Given the description of an element on the screen output the (x, y) to click on. 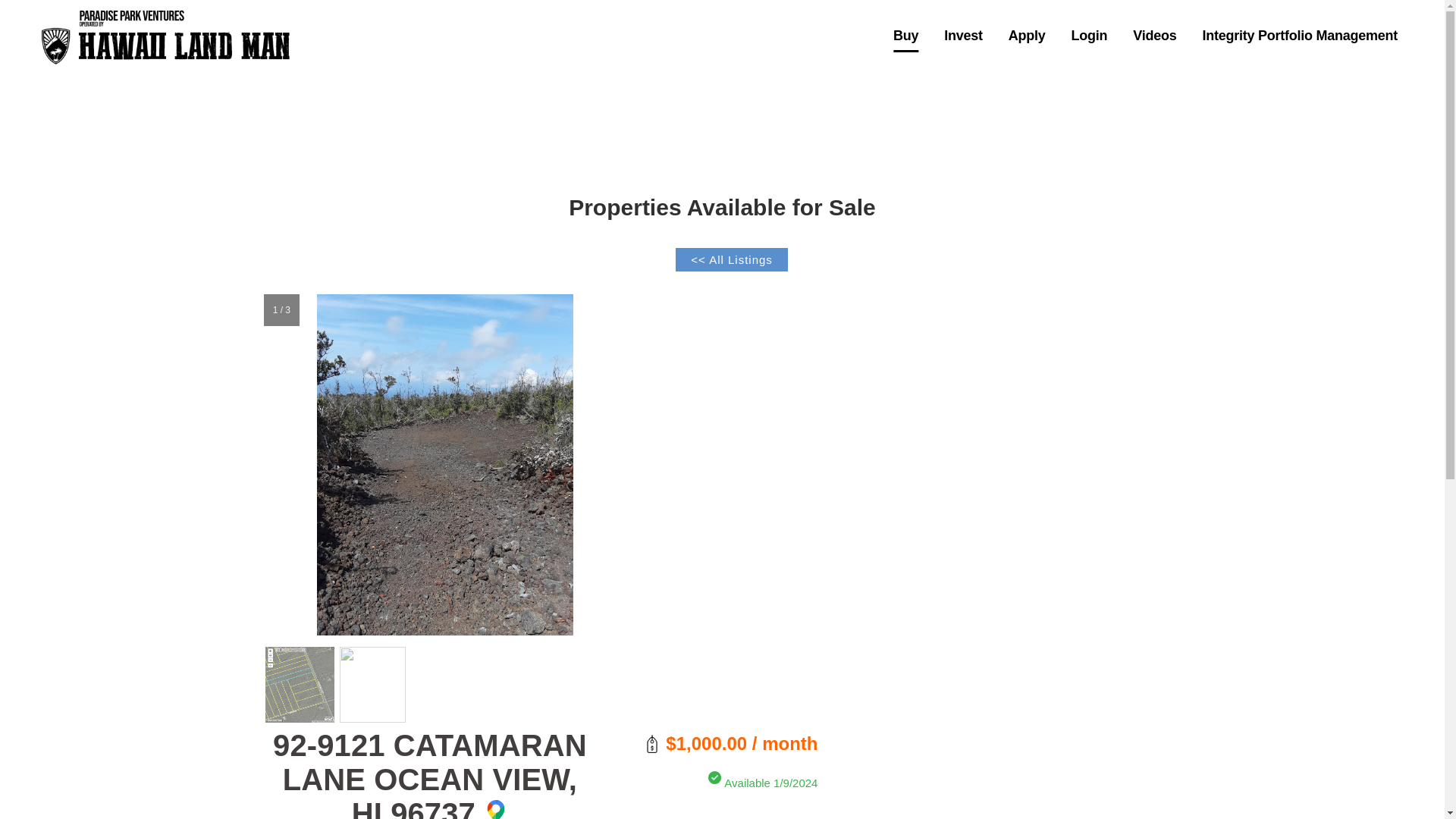
Integrity Portfolio Management (1299, 36)
Opens in new window (495, 809)
Videos (1154, 36)
Invest (963, 36)
